Given the description of an element on the screen output the (x, y) to click on. 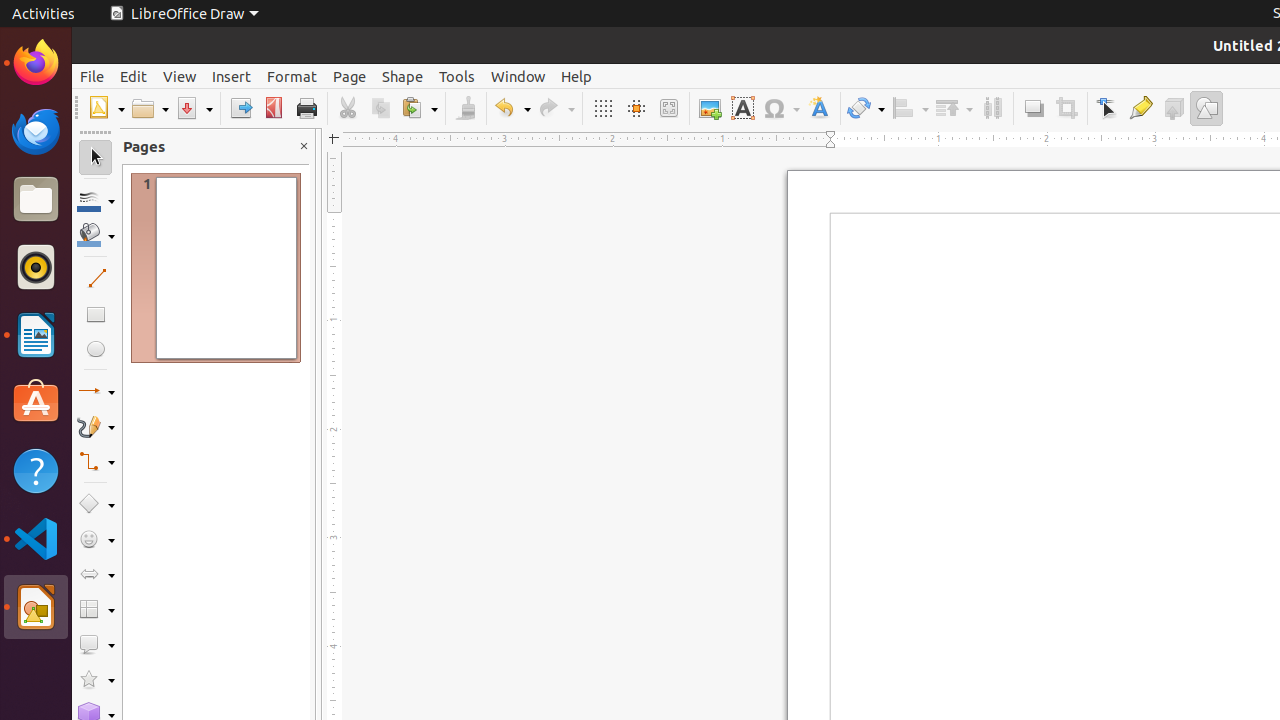
Basic Shapes Element type: push-button (96, 504)
Rhythmbox Element type: push-button (36, 267)
Redo Element type: push-button (556, 108)
LibreOffice Draw Element type: menu (183, 13)
Glue Points Element type: push-button (1140, 108)
